Given the description of an element on the screen output the (x, y) to click on. 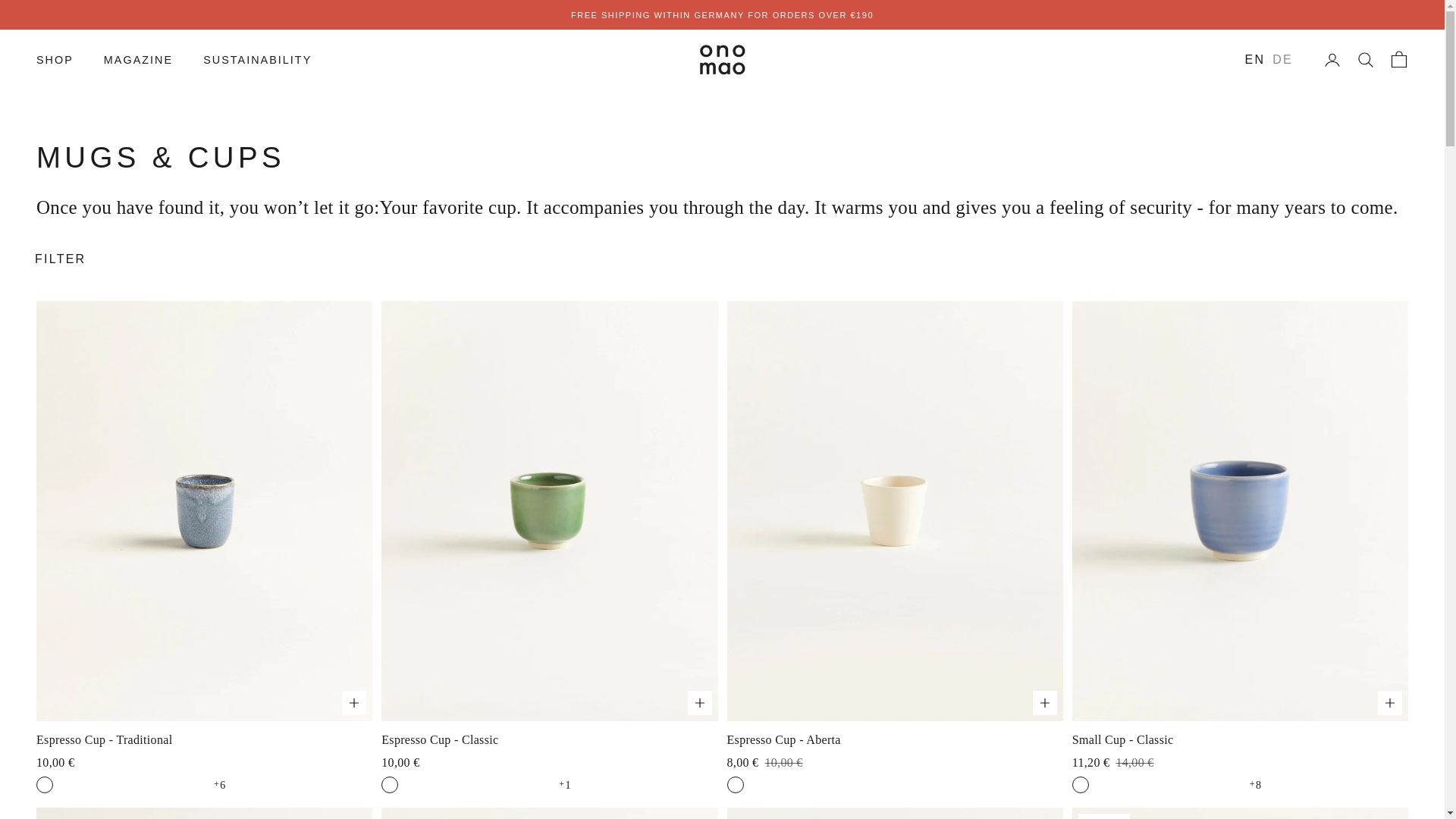
onomao (721, 60)
Open search (1365, 59)
DE (1282, 59)
